Given the description of an element on the screen output the (x, y) to click on. 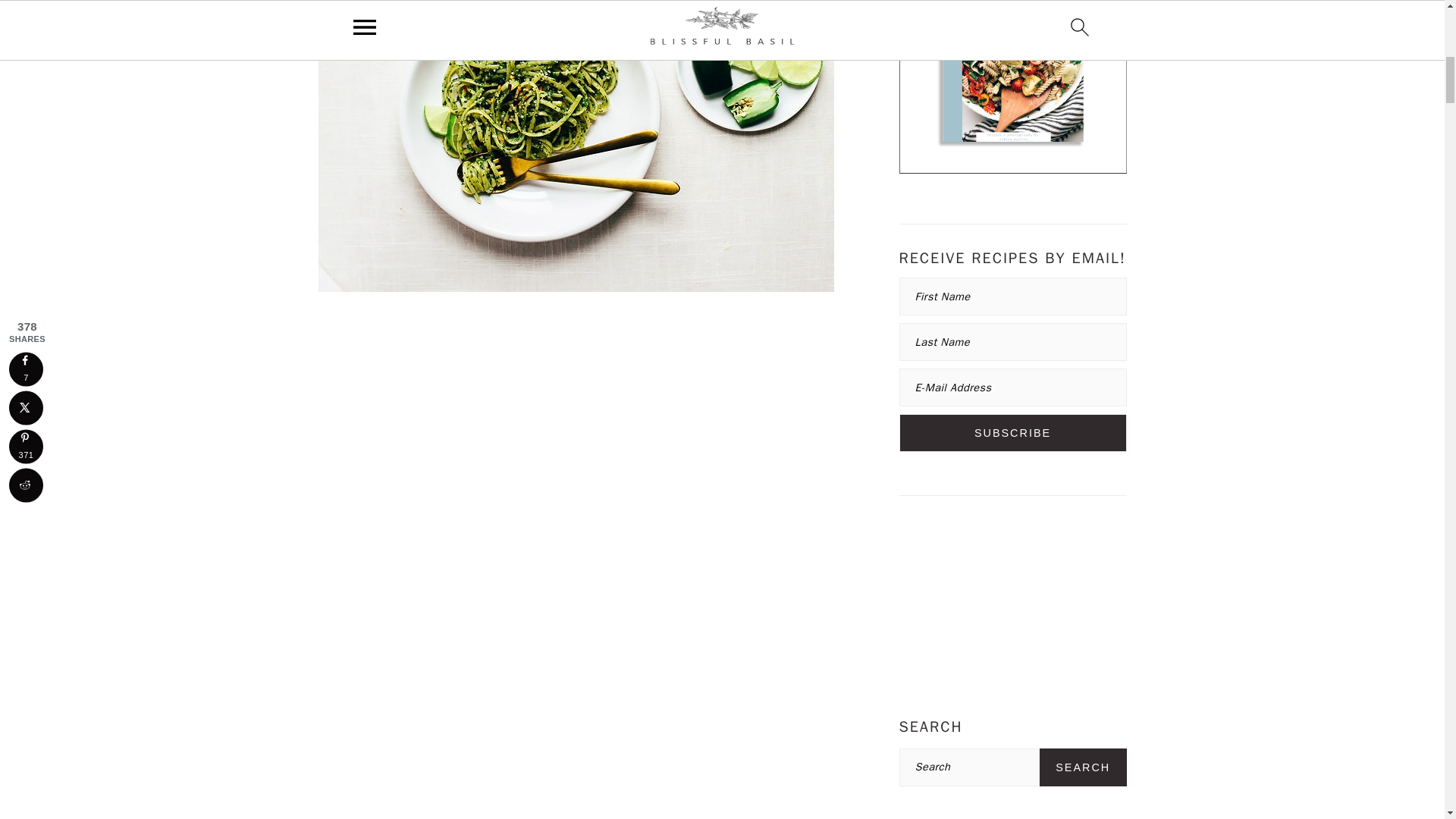
Subscribe (1012, 433)
Search (1082, 767)
Search (1082, 767)
